Given the description of an element on the screen output the (x, y) to click on. 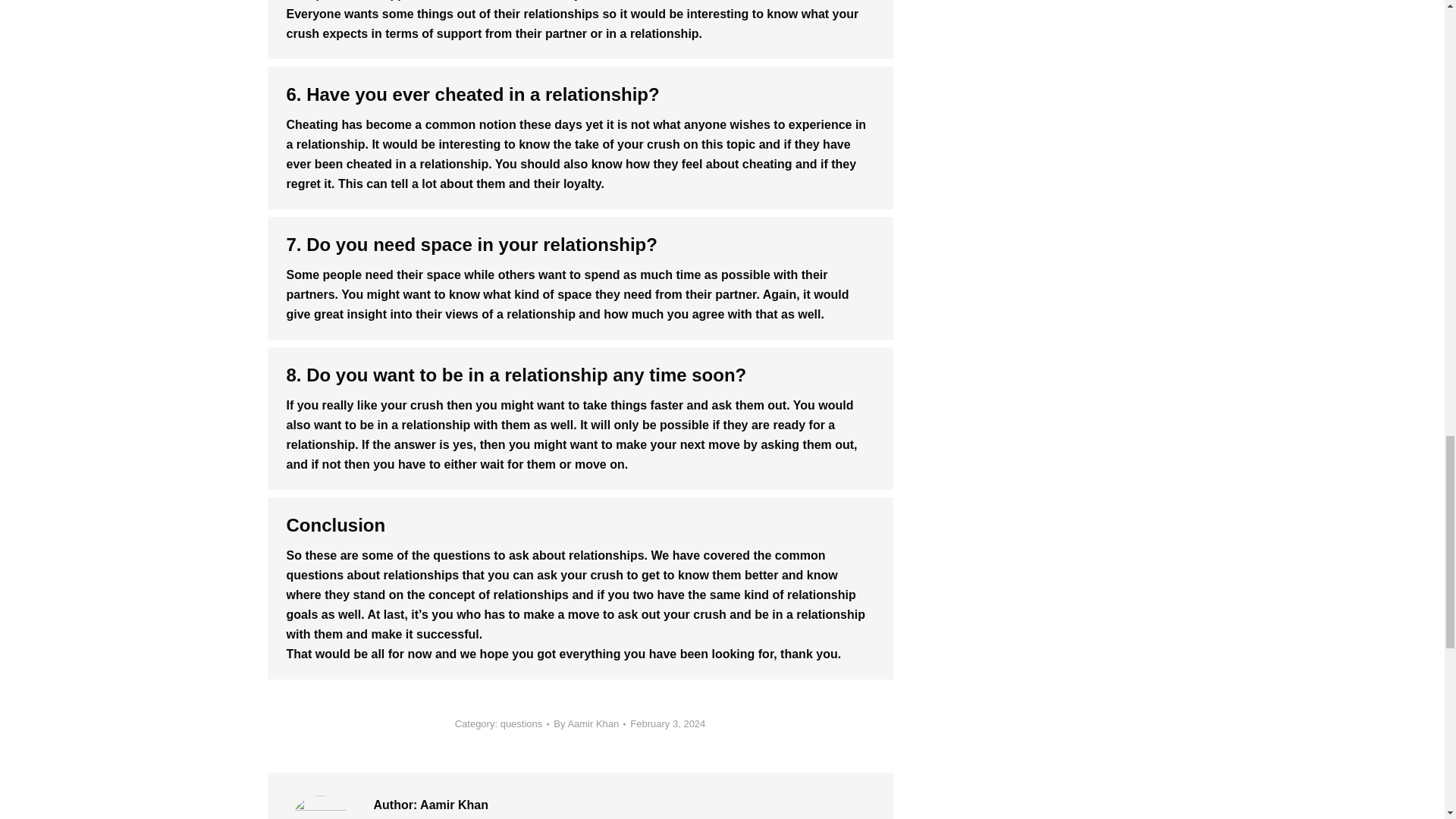
View all posts by Aamir Khan (589, 724)
questions (521, 723)
By Aamir Khan (589, 724)
11:00 am (667, 724)
February 3, 2024 (667, 724)
